Given the description of an element on the screen output the (x, y) to click on. 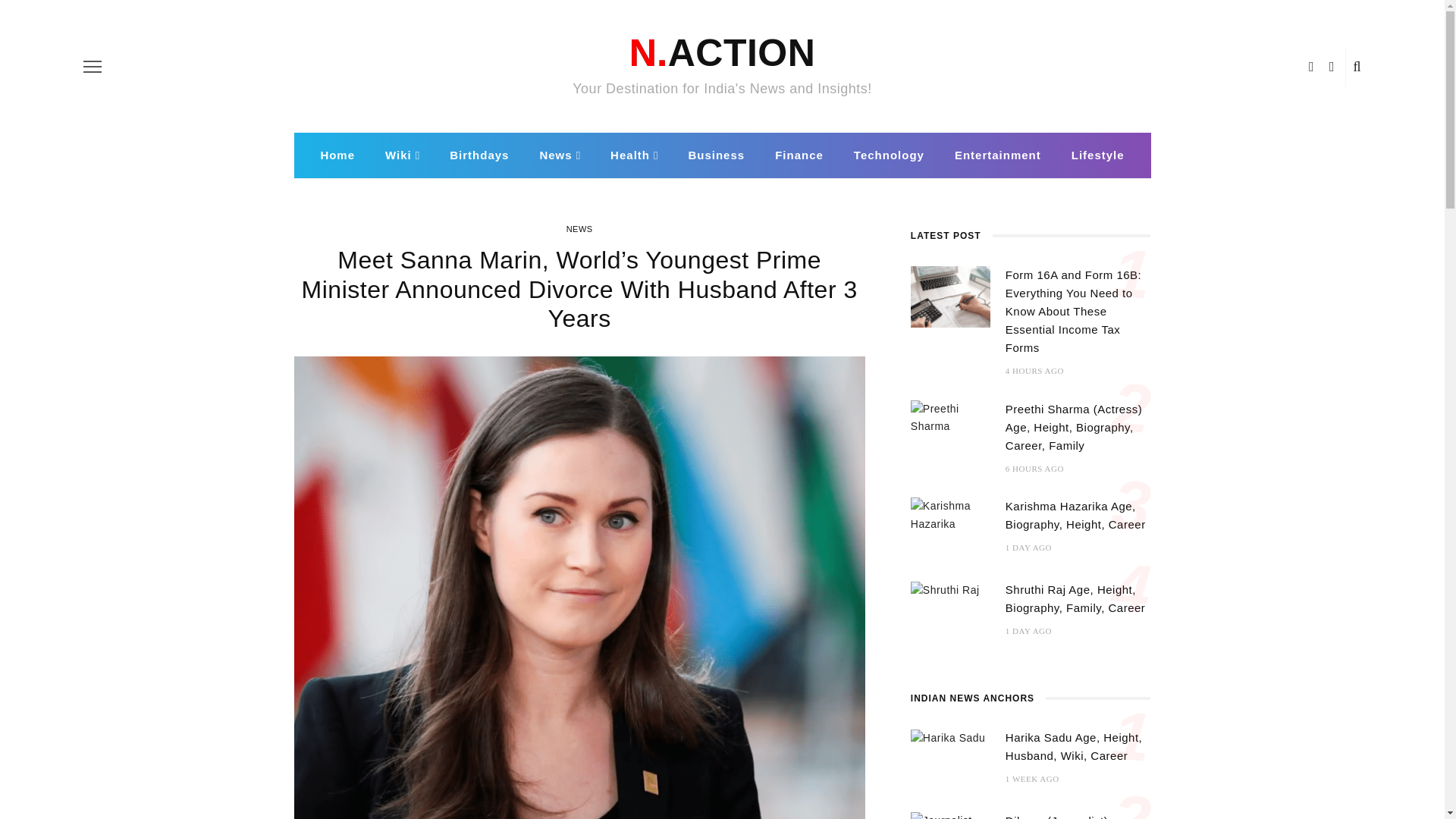
N.ACTION (721, 52)
Home (336, 155)
off canvas button (91, 66)
